Given the description of an element on the screen output the (x, y) to click on. 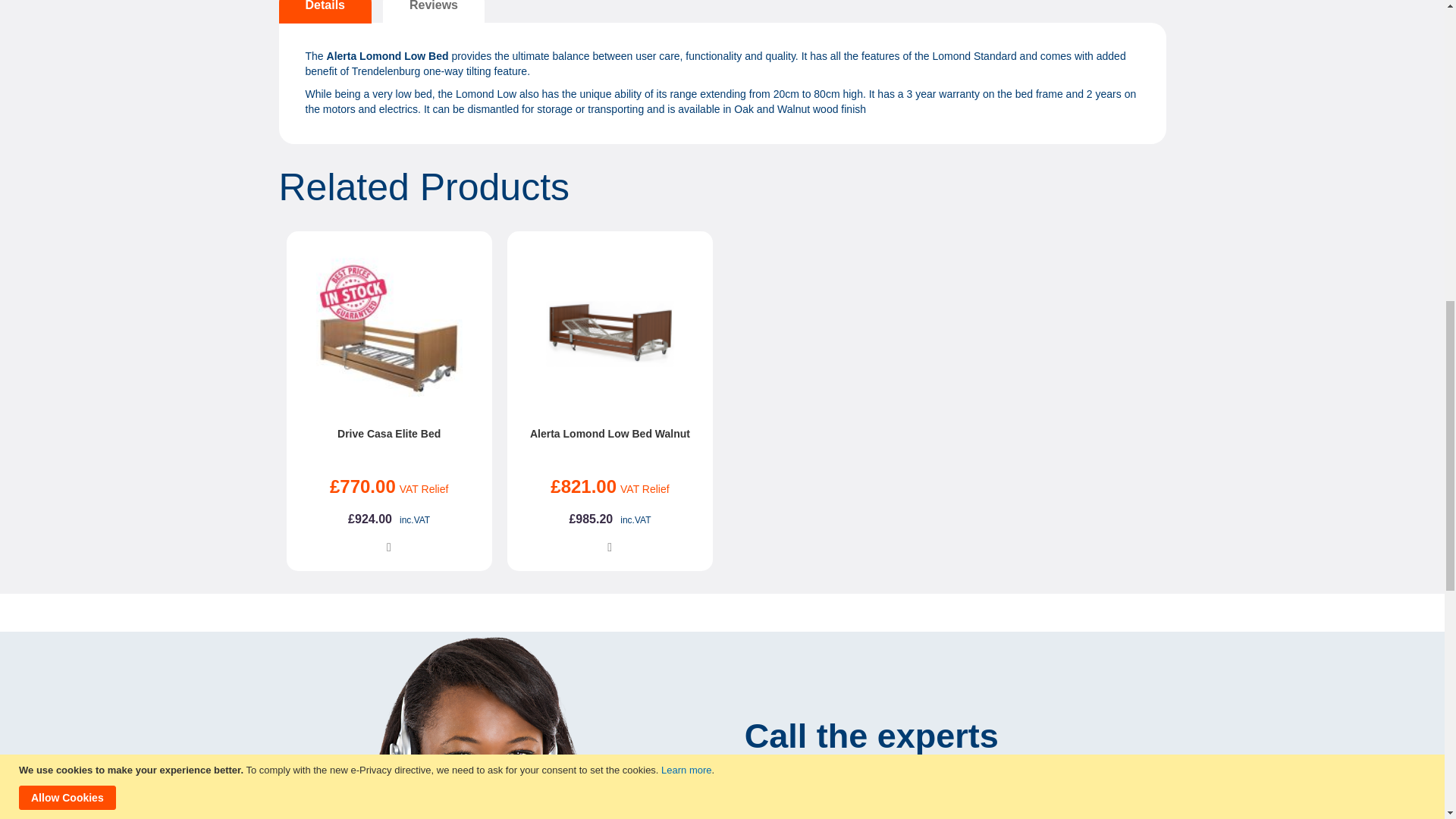
Alerta Lomond Low Bed Walnut (609, 433)
Add to Compare (389, 546)
Drive Casa Elite Bed (389, 433)
Add to Compare (609, 546)
